Given the description of an element on the screen output the (x, y) to click on. 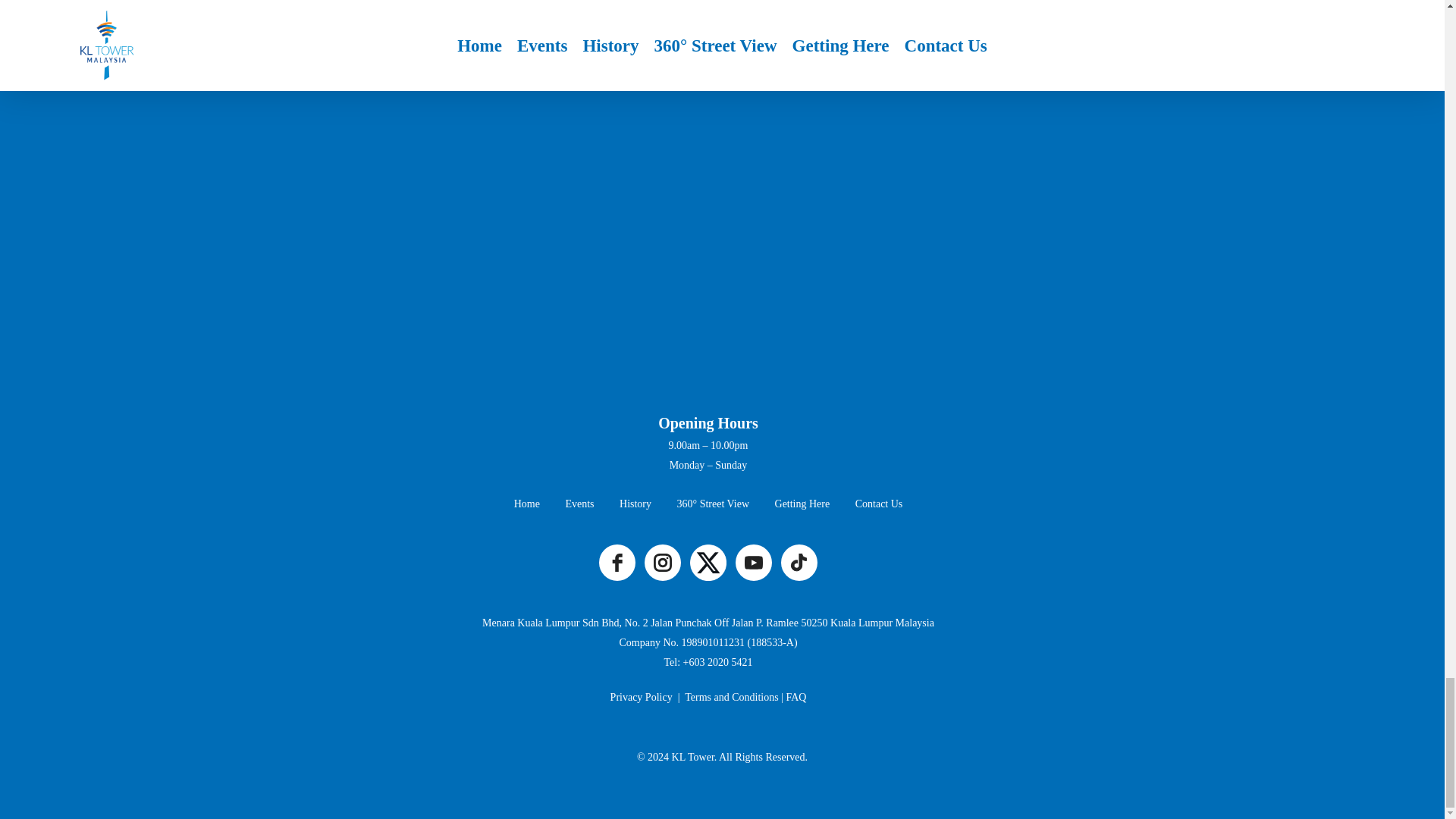
History (635, 504)
Privacy Policy (641, 696)
FAQ (796, 696)
Contact Us (879, 504)
Events (579, 504)
Home (526, 504)
Getting Here (801, 504)
